Given the description of an element on the screen output the (x, y) to click on. 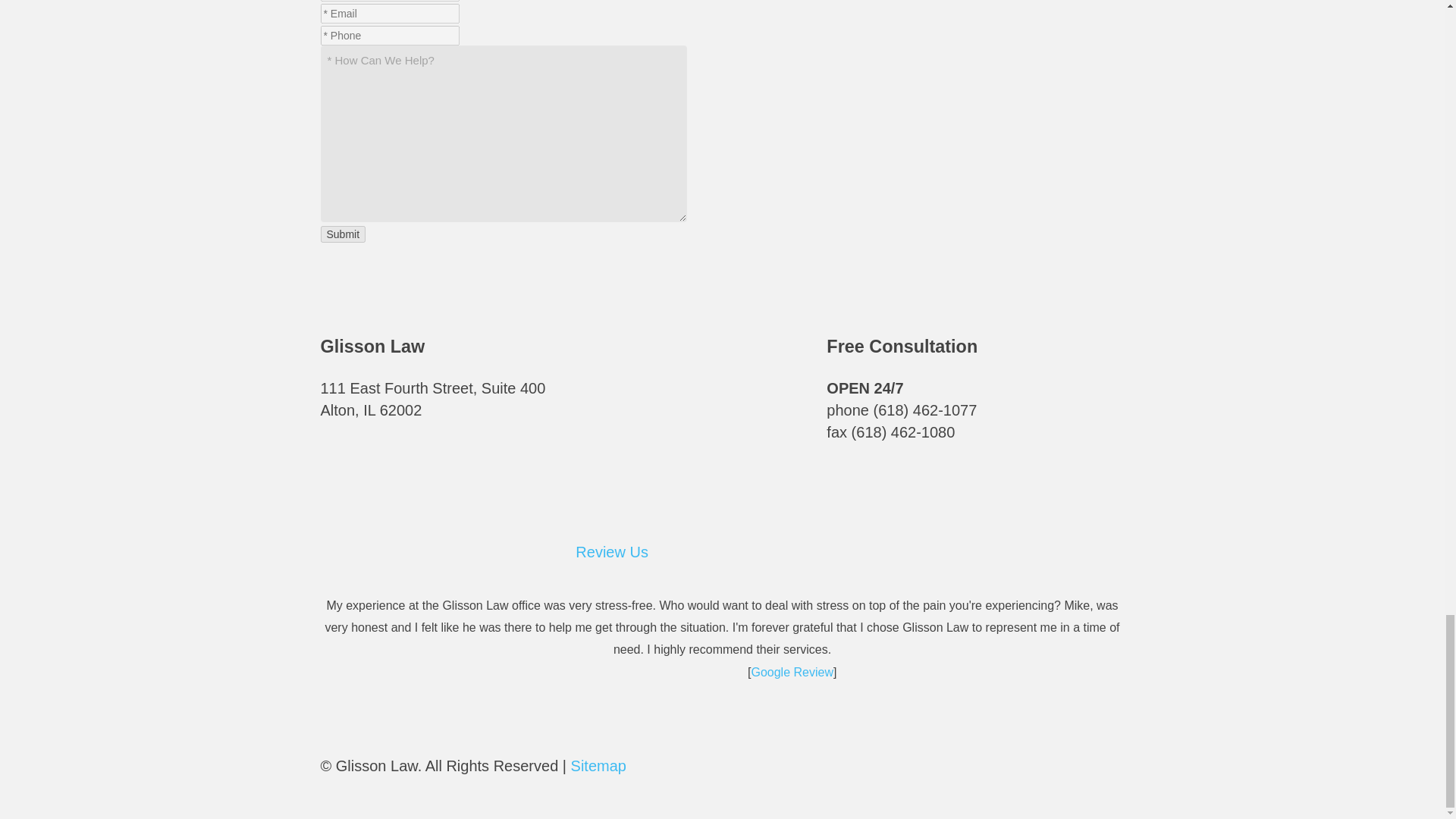
Powered-ByDLM (705, 771)
Glisson Law Personal Injury Attorneys (685, 398)
Submit (342, 234)
